Given the description of an element on the screen output the (x, y) to click on. 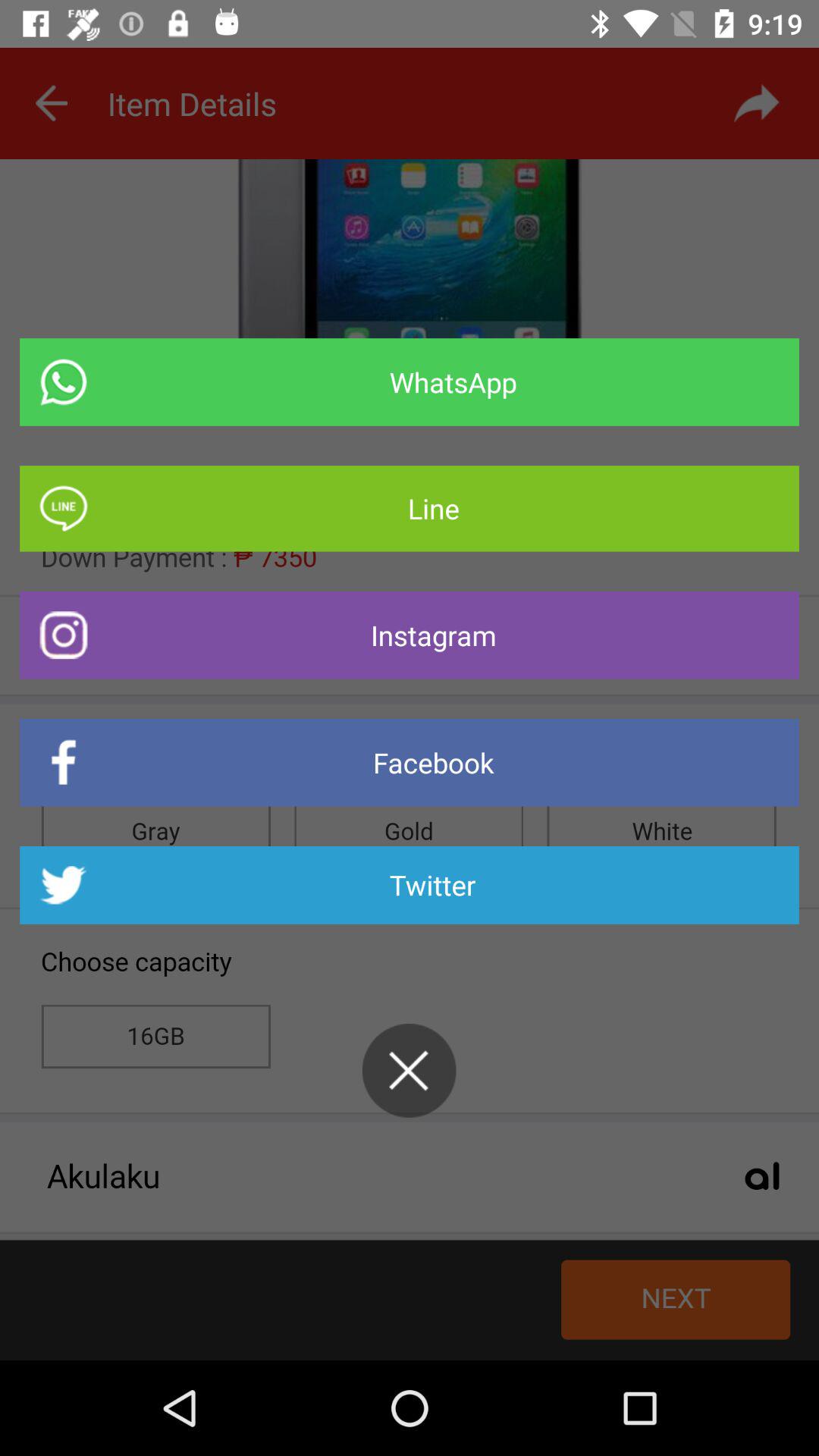
exit out of sharing options (409, 1070)
